Given the description of an element on the screen output the (x, y) to click on. 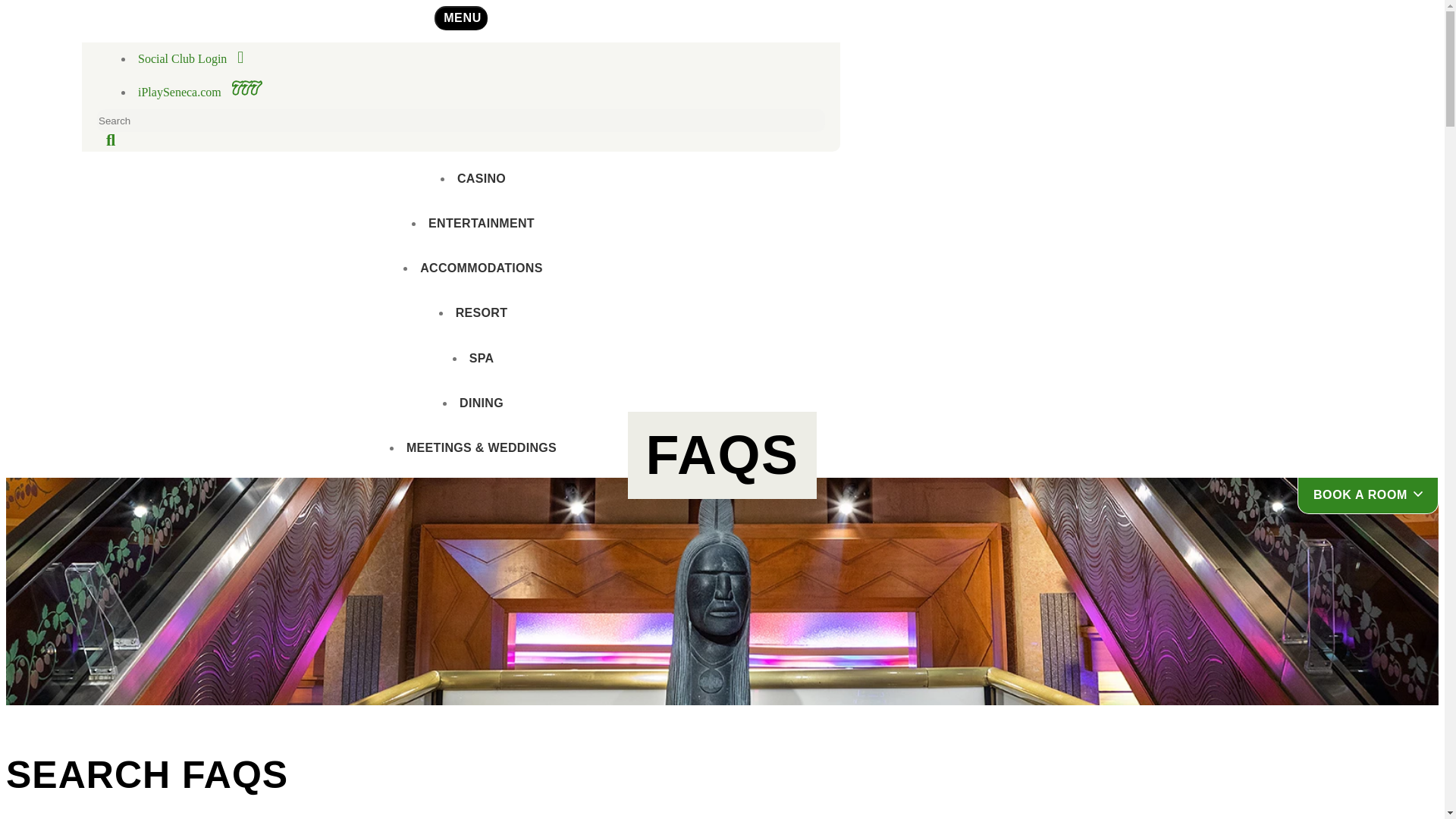
ACCOMMODATIONS (481, 270)
SEARCH (200, 87)
RESORT (111, 141)
ENTERTAINMENT (481, 314)
CASINO (190, 58)
